Given the description of an element on the screen output the (x, y) to click on. 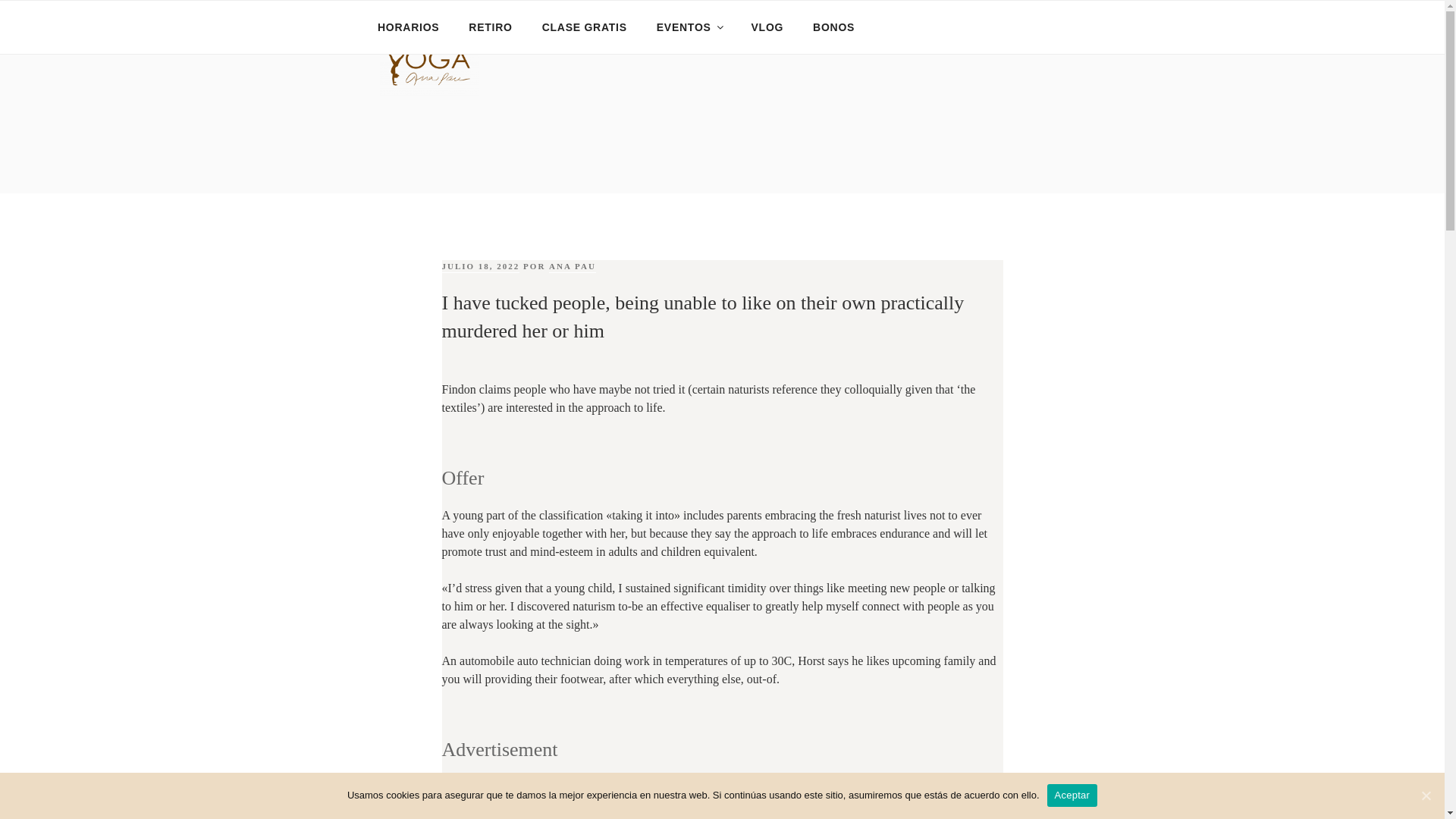
EVENTOS (689, 27)
Aceptar (1071, 794)
VLOG (767, 27)
YOGA EN ESPANOL CON ANA PAU (637, 119)
ANA PAU (571, 266)
RETIRO (490, 27)
JULIO 18, 2022 (480, 266)
CLASE GRATIS (584, 27)
HORARIOS (407, 27)
